Given the description of an element on the screen output the (x, y) to click on. 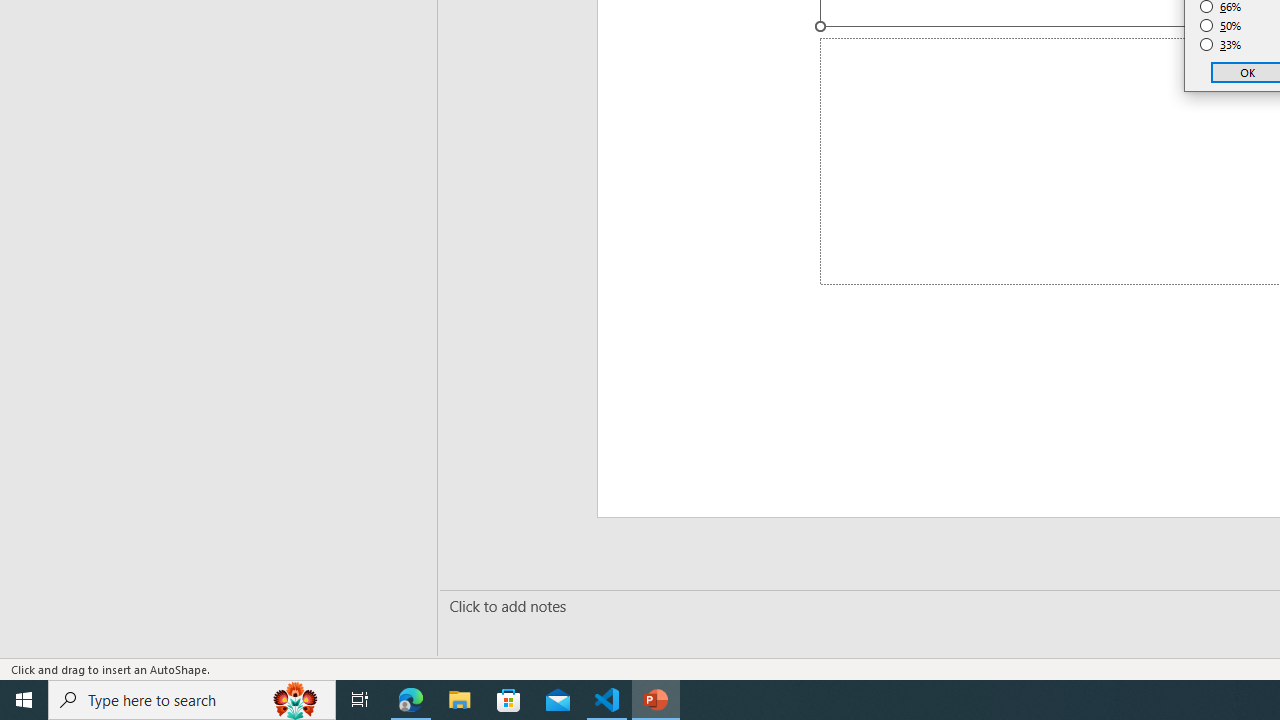
33% (1221, 44)
50% (1221, 25)
